Given the description of an element on the screen output the (x, y) to click on. 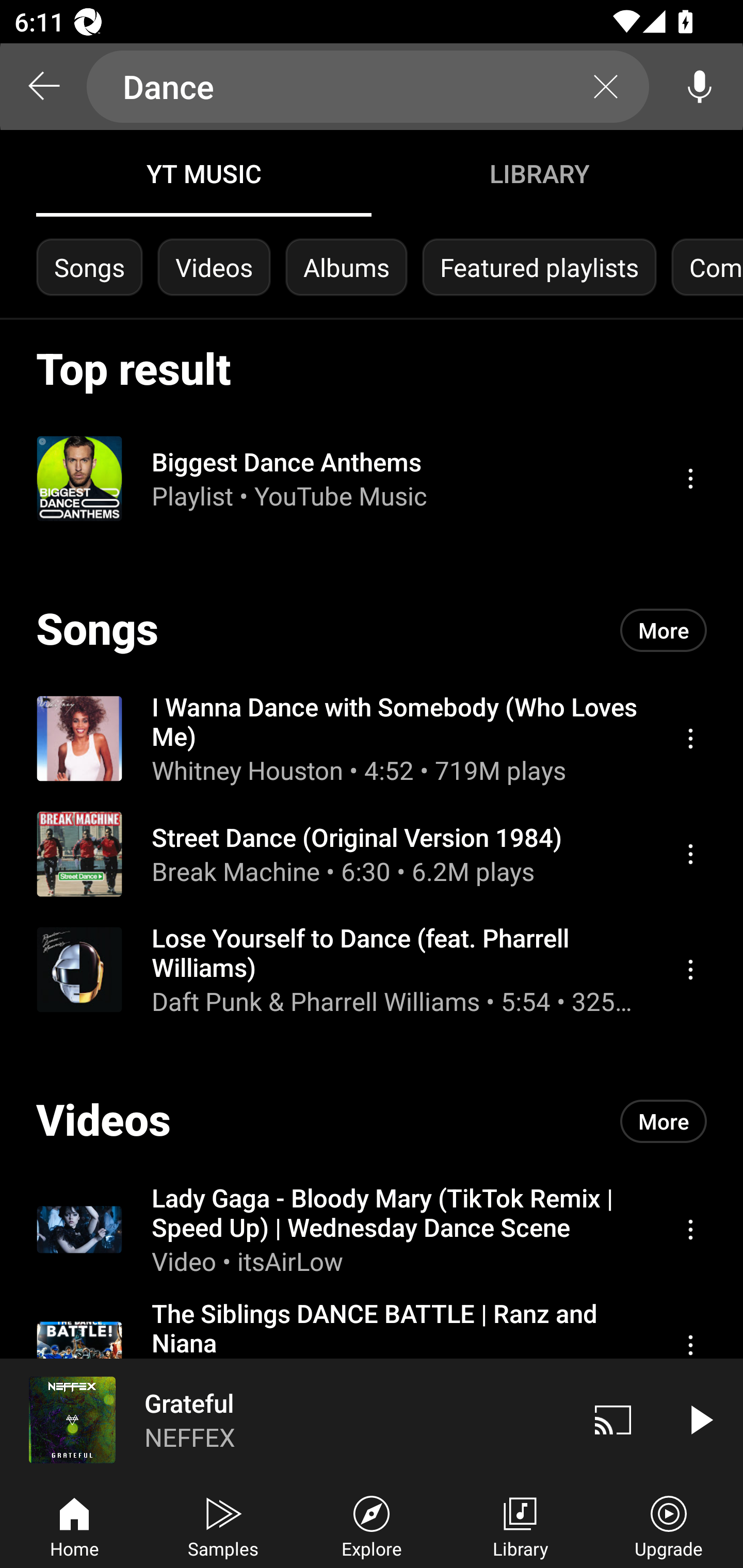
Search back (43, 86)
Dance (367, 86)
Clear search (605, 86)
Voice search (699, 86)
Library LIBRARY (538, 173)
Videos (214, 267)
Menu (690, 478)
Songs More More (371, 630)
More (663, 630)
Menu (690, 738)
Menu (690, 854)
Menu (690, 968)
Videos More More (371, 1120)
More (663, 1121)
Menu (690, 1229)
Menu (690, 1345)
Grateful NEFFEX (284, 1419)
Cast. Disconnected (612, 1419)
Play video (699, 1419)
Home (74, 1524)
Samples (222, 1524)
Explore (371, 1524)
Library (519, 1524)
Upgrade (668, 1524)
